Given the description of an element on the screen output the (x, y) to click on. 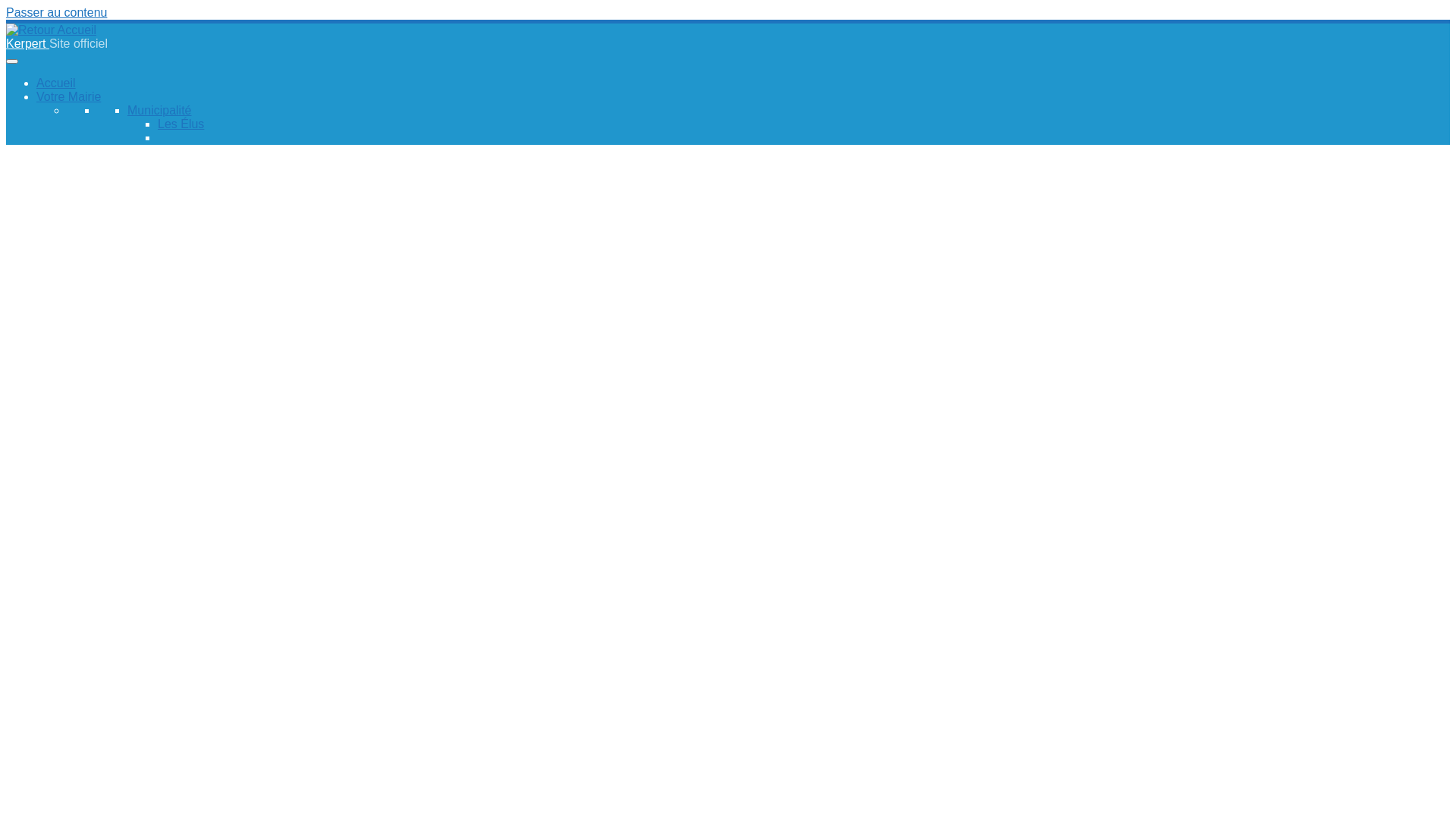
Kerpert Element type: text (27, 43)
Passer au contenu Element type: text (56, 12)
Accueil Element type: text (55, 82)
Votre Mairie Element type: text (68, 96)
